Given the description of an element on the screen output the (x, y) to click on. 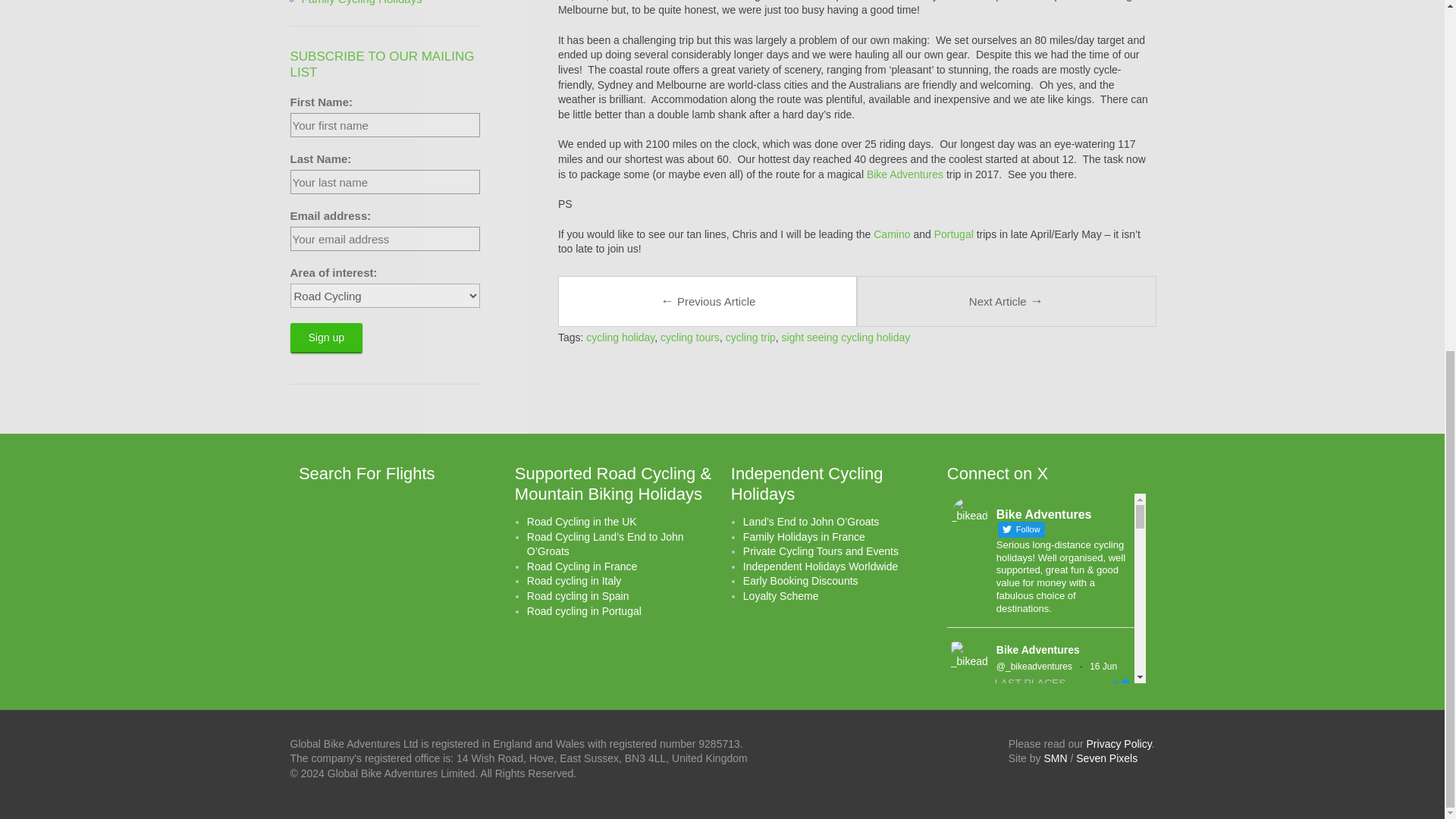
Sign up (325, 337)
